Given the description of an element on the screen output the (x, y) to click on. 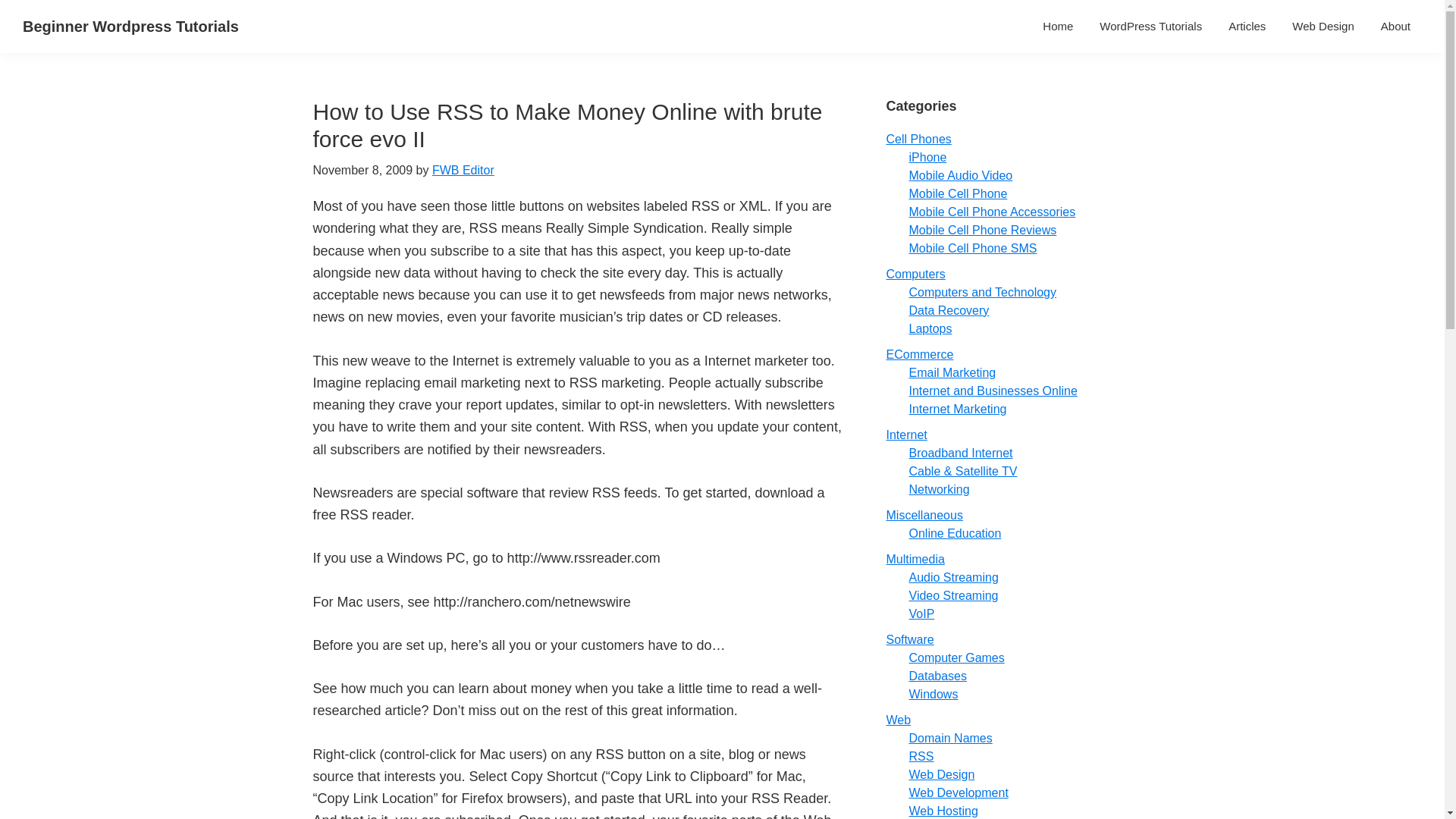
VoIP (921, 613)
Networking (938, 489)
Multimedia (914, 558)
Mobile Audio Video (959, 174)
Internet Marketing (957, 408)
Computer Games (956, 657)
Beginner Wordpress Tutorials (130, 26)
Internet and Businesses Online (992, 390)
Online Education (954, 533)
Articles (1246, 25)
